Given the description of an element on the screen output the (x, y) to click on. 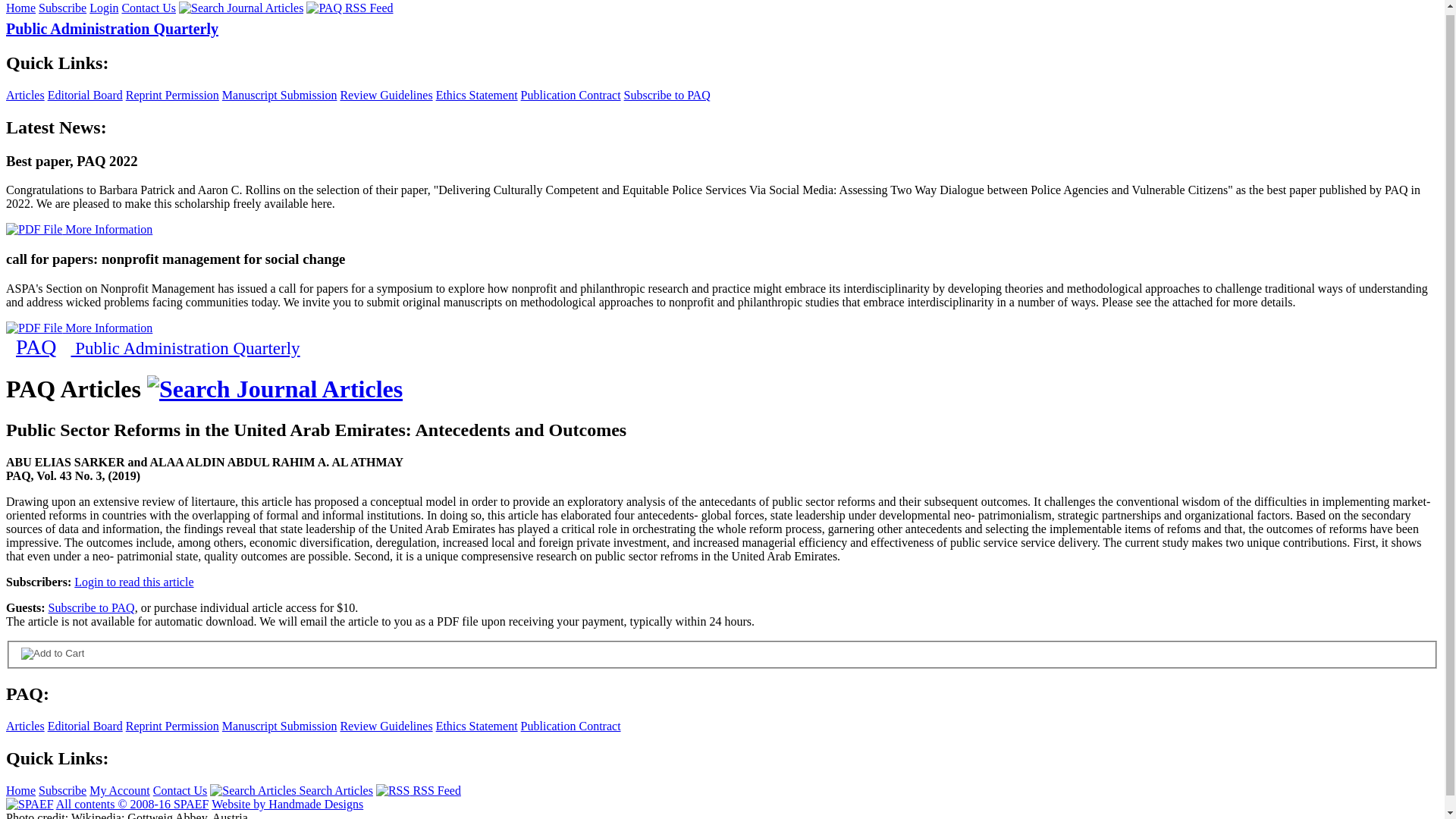
Login to read this article (133, 581)
Manuscript Submission (279, 94)
More Information (78, 228)
Editorial Board (85, 725)
Reprint Permission (172, 94)
Articles (25, 94)
My Account (118, 789)
Review Guidelines (385, 725)
Review Guidelines (385, 94)
Publication Contract (571, 725)
